Given the description of an element on the screen output the (x, y) to click on. 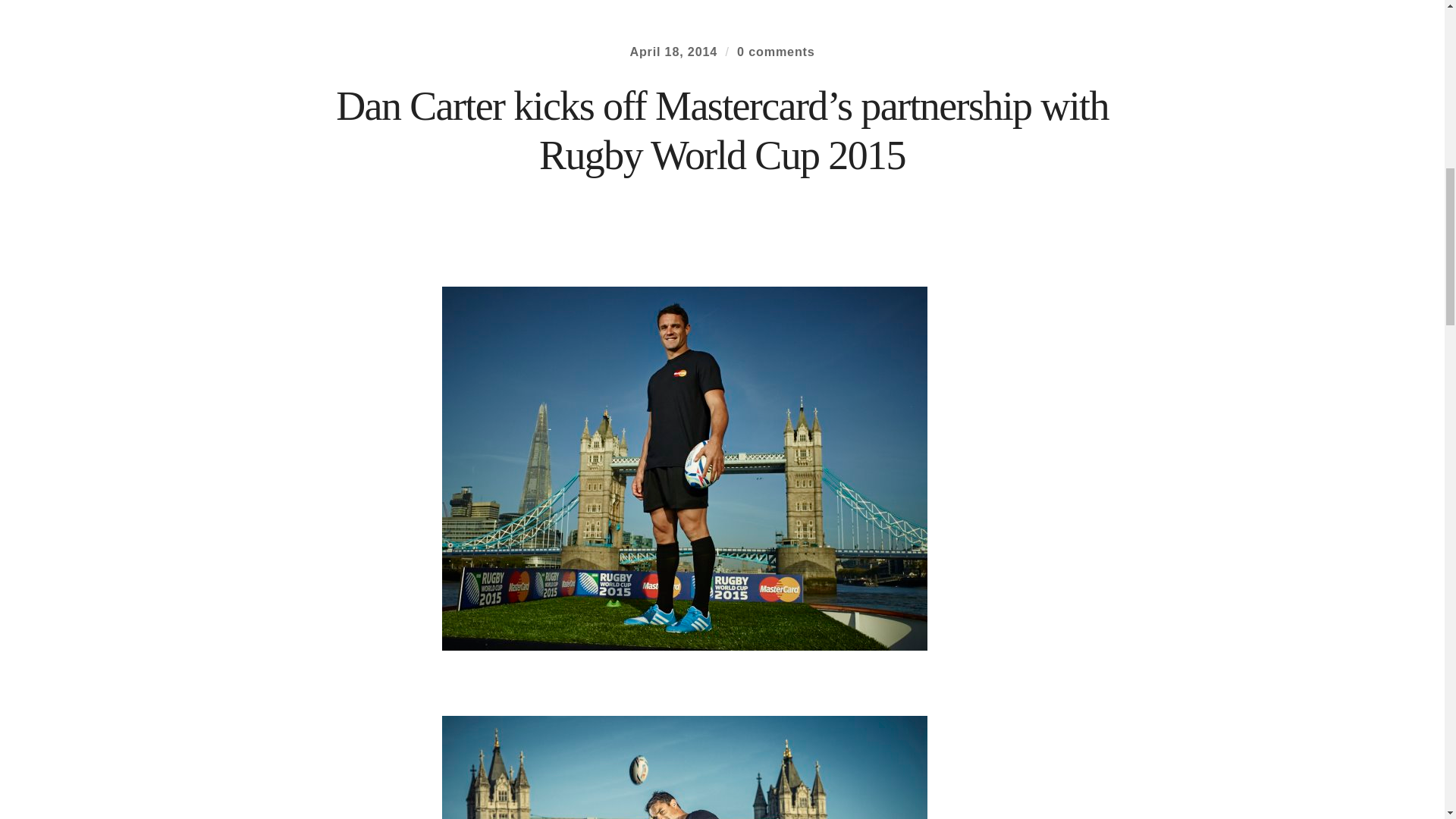
0 comments (775, 51)
April 18, 2014 (672, 51)
